Given the description of an element on the screen output the (x, y) to click on. 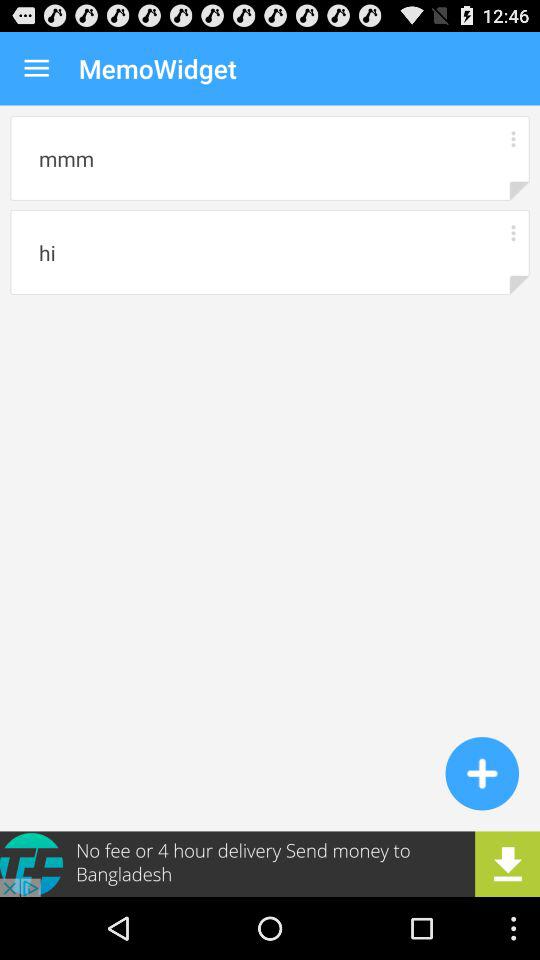
apps (512, 138)
